Given the description of an element on the screen output the (x, y) to click on. 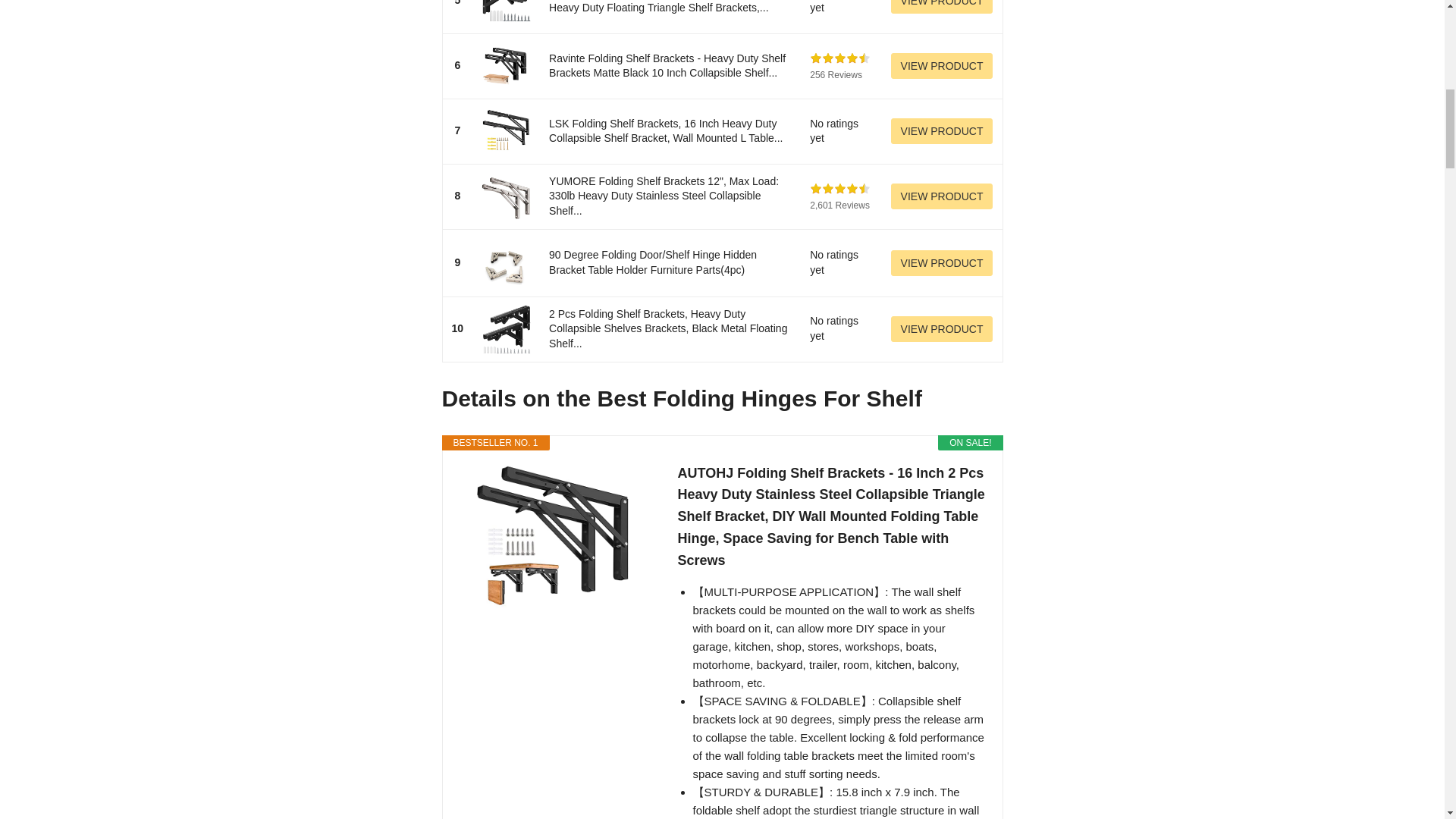
VIEW PRODUCT (941, 6)
VIEW PRODUCT (941, 263)
VIEW PRODUCT (941, 329)
VIEW PRODUCT (941, 196)
VIEW PRODUCT (941, 130)
VIEW PRODUCT (941, 65)
